Given the description of an element on the screen output the (x, y) to click on. 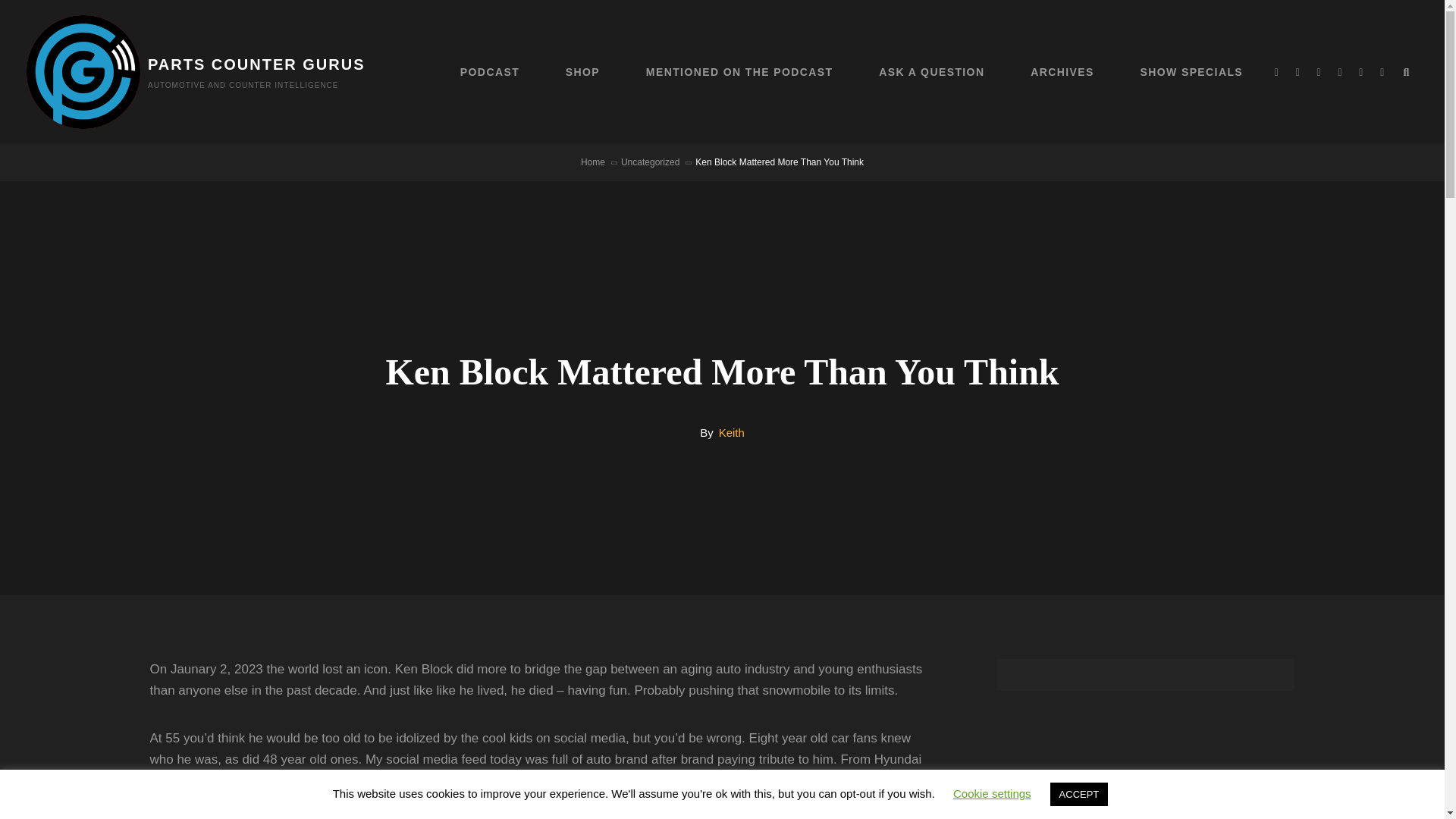
Uncategorized (650, 162)
SHOP (582, 71)
MENTIONED ON THE PODCAST (739, 71)
SHOW SPECIALS (1190, 71)
PARTS COUNTER GURUS (256, 64)
Keith (731, 431)
ARCHIVES (1062, 71)
Home (592, 162)
ASK A QUESTION (931, 71)
PODCAST (489, 71)
